Given the description of an element on the screen output the (x, y) to click on. 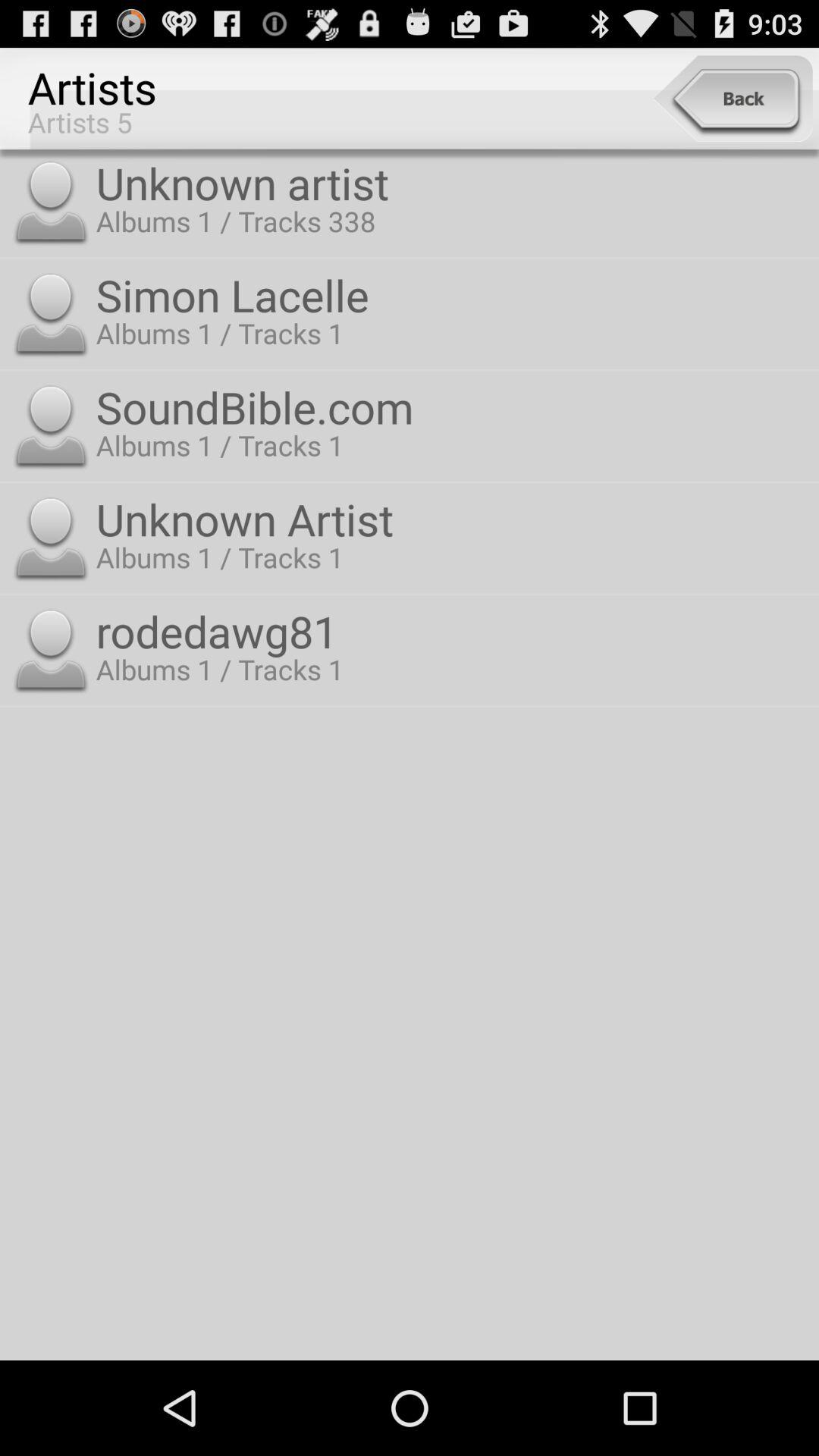
press the simon lacelle (454, 294)
